Given the description of an element on the screen output the (x, y) to click on. 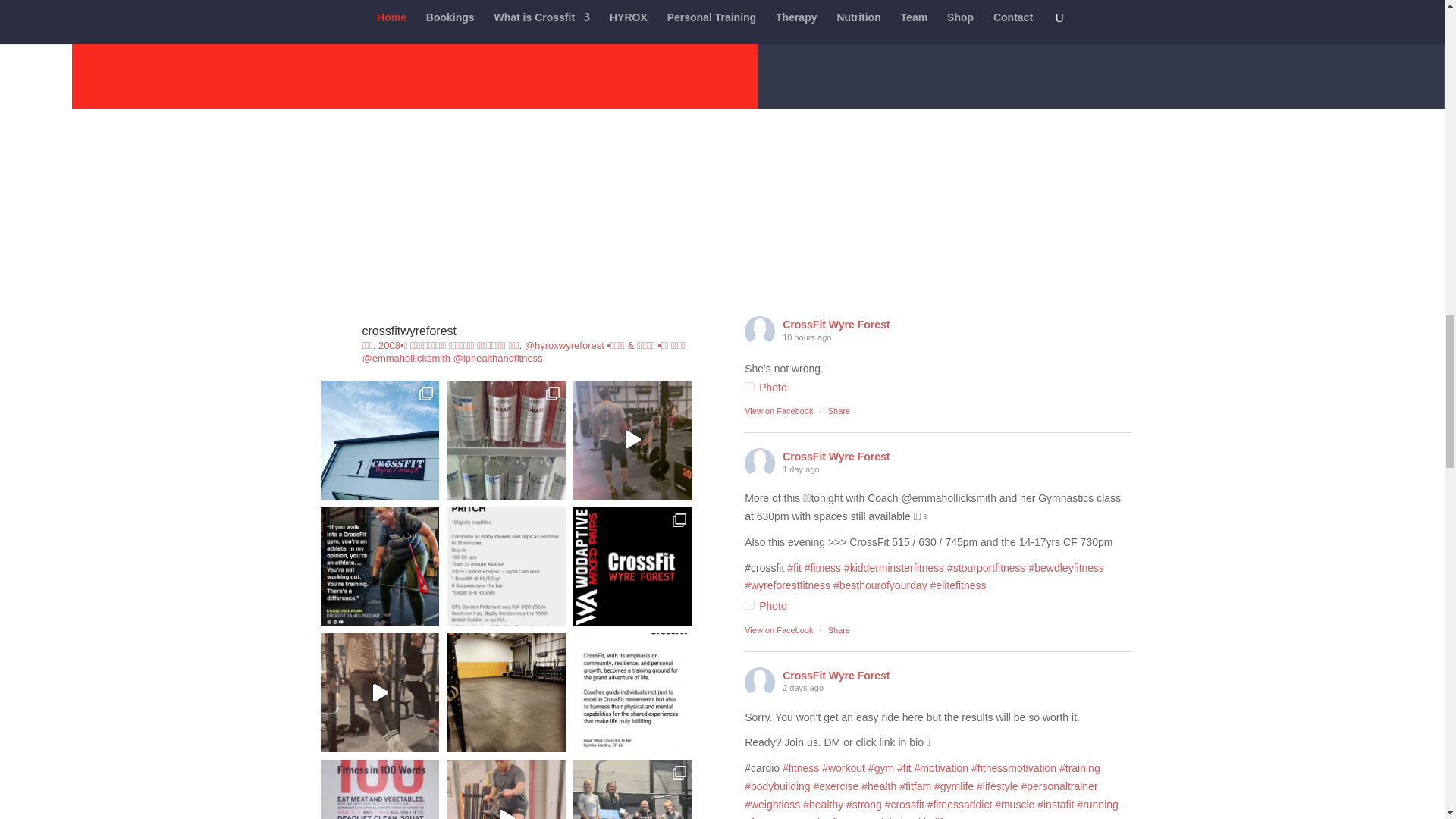
CrossFit Wyre Forest (759, 462)
CrossFit Wyre Forest (759, 331)
Share (839, 629)
View on Facebook (778, 410)
Share (839, 410)
CrossFit Wyre Forest (759, 682)
View on Facebook (778, 629)
